Given the description of an element on the screen output the (x, y) to click on. 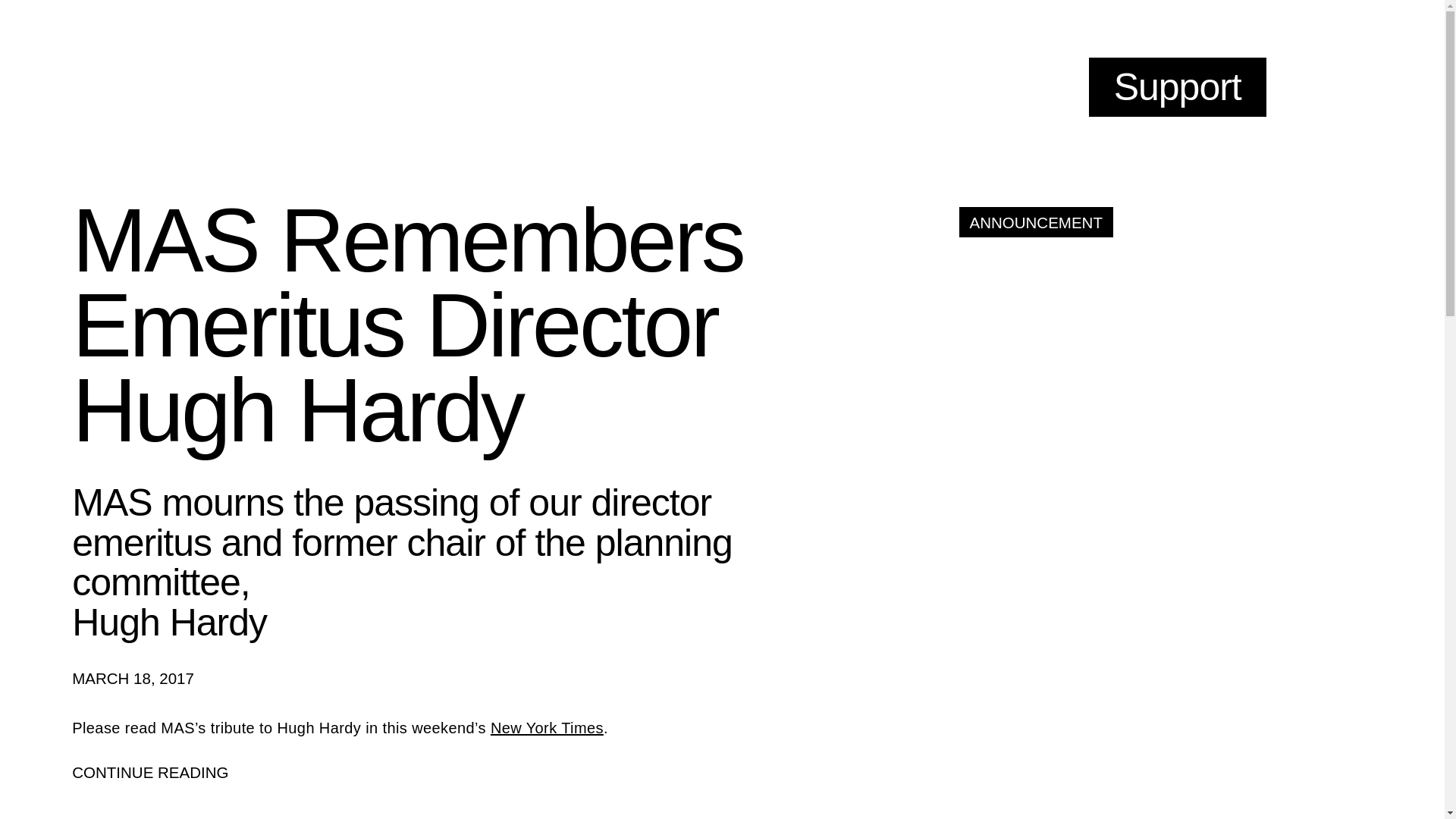
MAS NYC : The Municipal Art Society of New York (396, 83)
Support (1177, 87)
Menu (1342, 87)
